Given the description of an element on the screen output the (x, y) to click on. 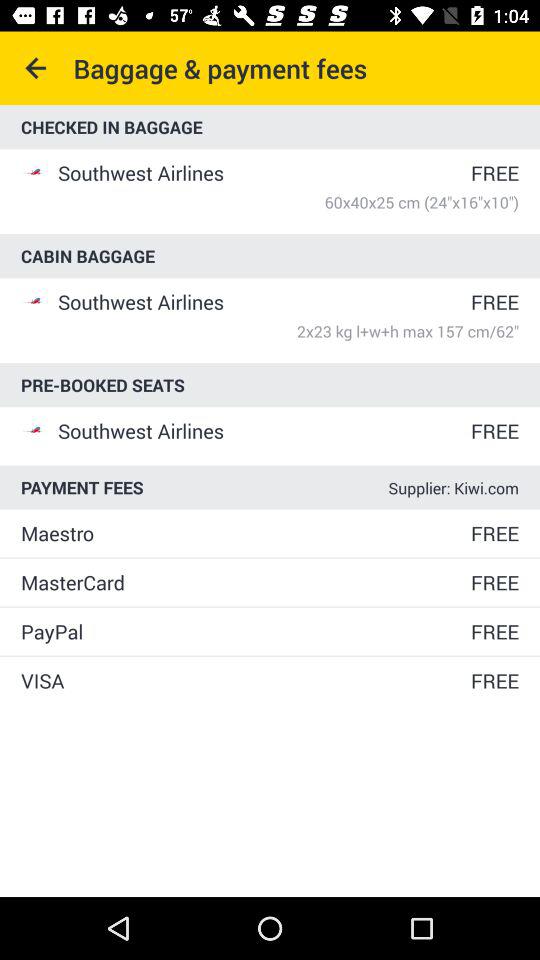
click the maestro (244, 533)
